Given the description of an element on the screen output the (x, y) to click on. 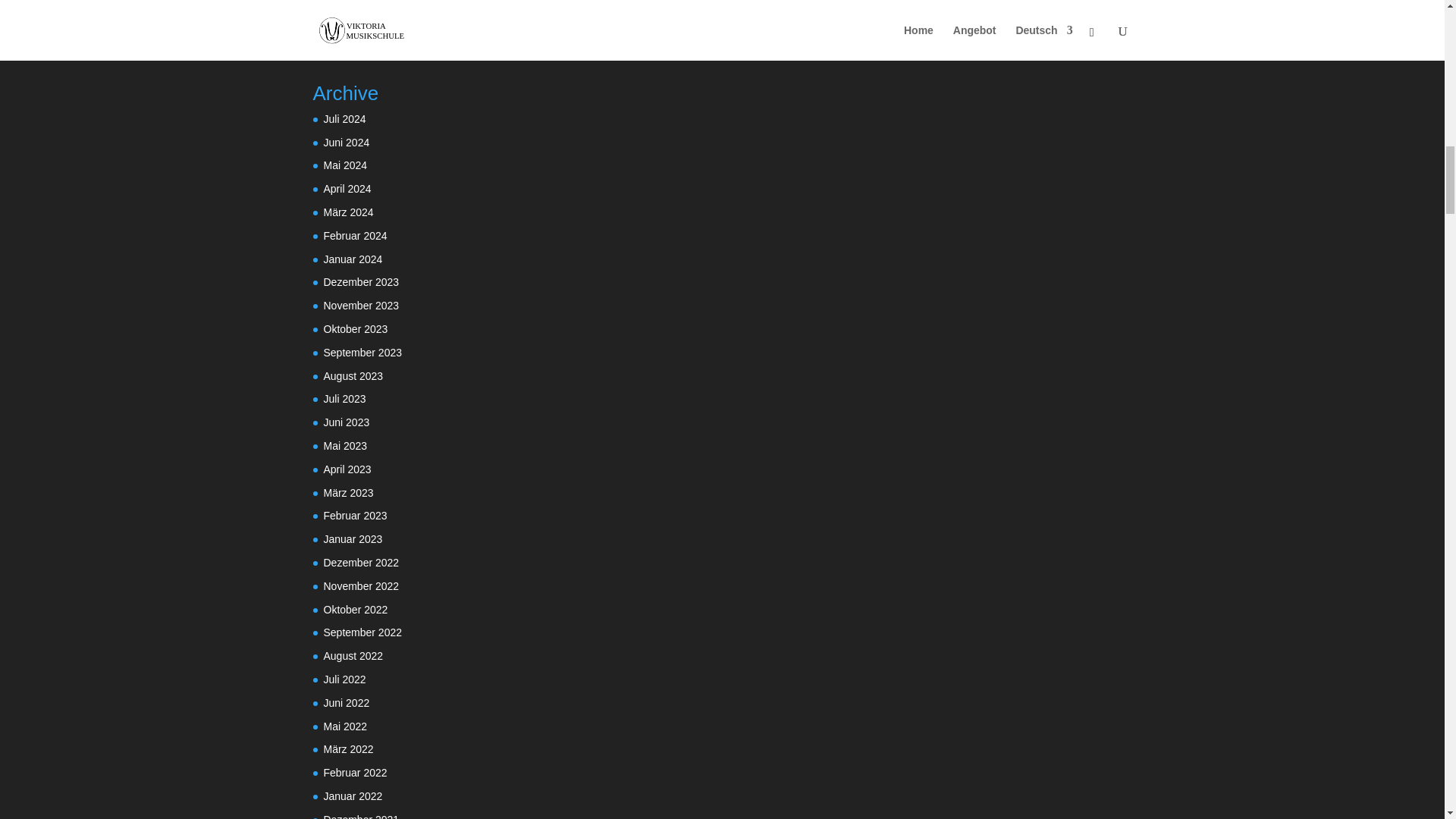
Mai 2024 (344, 164)
Juni 2024 (346, 142)
Oktober 2023 (355, 328)
August 2023 (352, 376)
Februar 2023 (355, 515)
Dezember 2023 (360, 282)
Juli 2023 (344, 398)
Februar 2024 (355, 235)
April 2024 (347, 188)
Juli 2024 (344, 119)
November 2023 (360, 305)
Juni 2023 (346, 422)
Januar 2024 (352, 259)
April 2023 (347, 469)
Mai 2023 (344, 445)
